Given the description of an element on the screen output the (x, y) to click on. 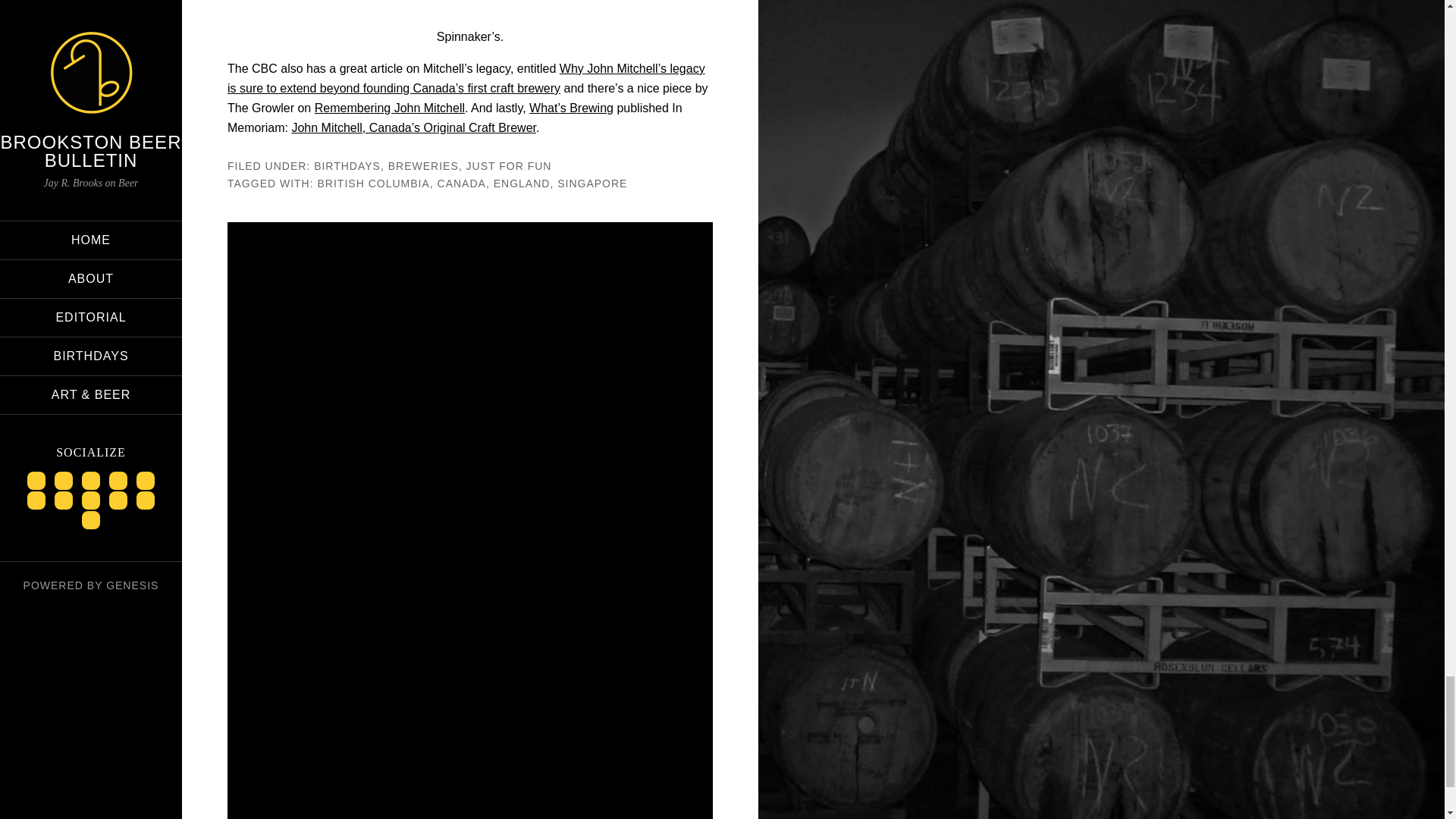
JUST FOR FUN (508, 165)
BRITISH COLUMBIA (373, 183)
ENGLAND (521, 183)
SINGAPORE (592, 183)
Remembering John Mitchell (389, 107)
BREWERIES (423, 165)
CANADA (462, 183)
BIRTHDAYS (347, 165)
